Given the description of an element on the screen output the (x, y) to click on. 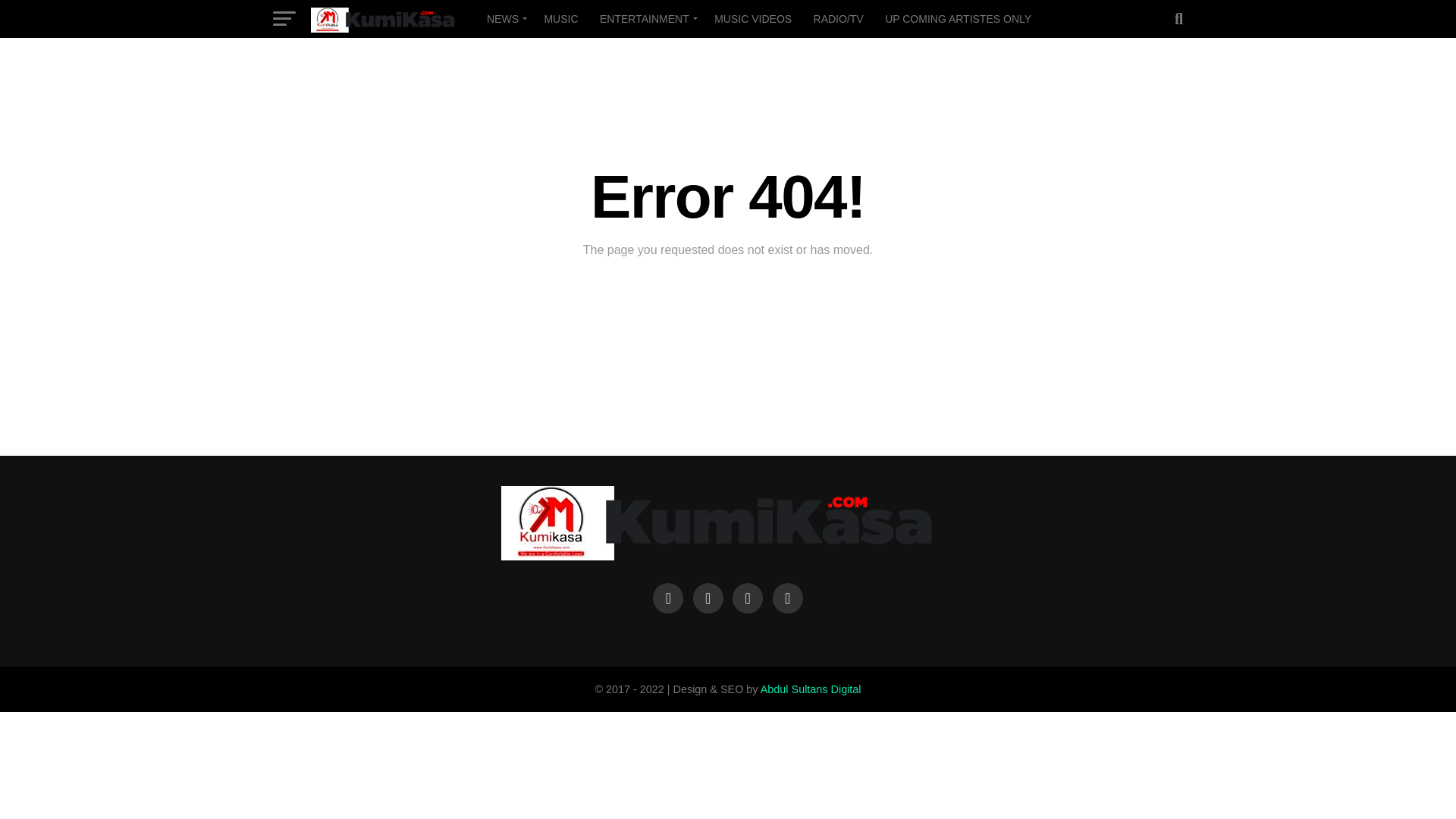
UP COMING ARTISTES ONLY (958, 18)
Abdul Sultans Digital (810, 689)
MUSIC (560, 18)
MUSIC VIDEOS (752, 18)
NEWS (504, 18)
ENTERTAINMENT (646, 18)
